Given the description of an element on the screen output the (x, y) to click on. 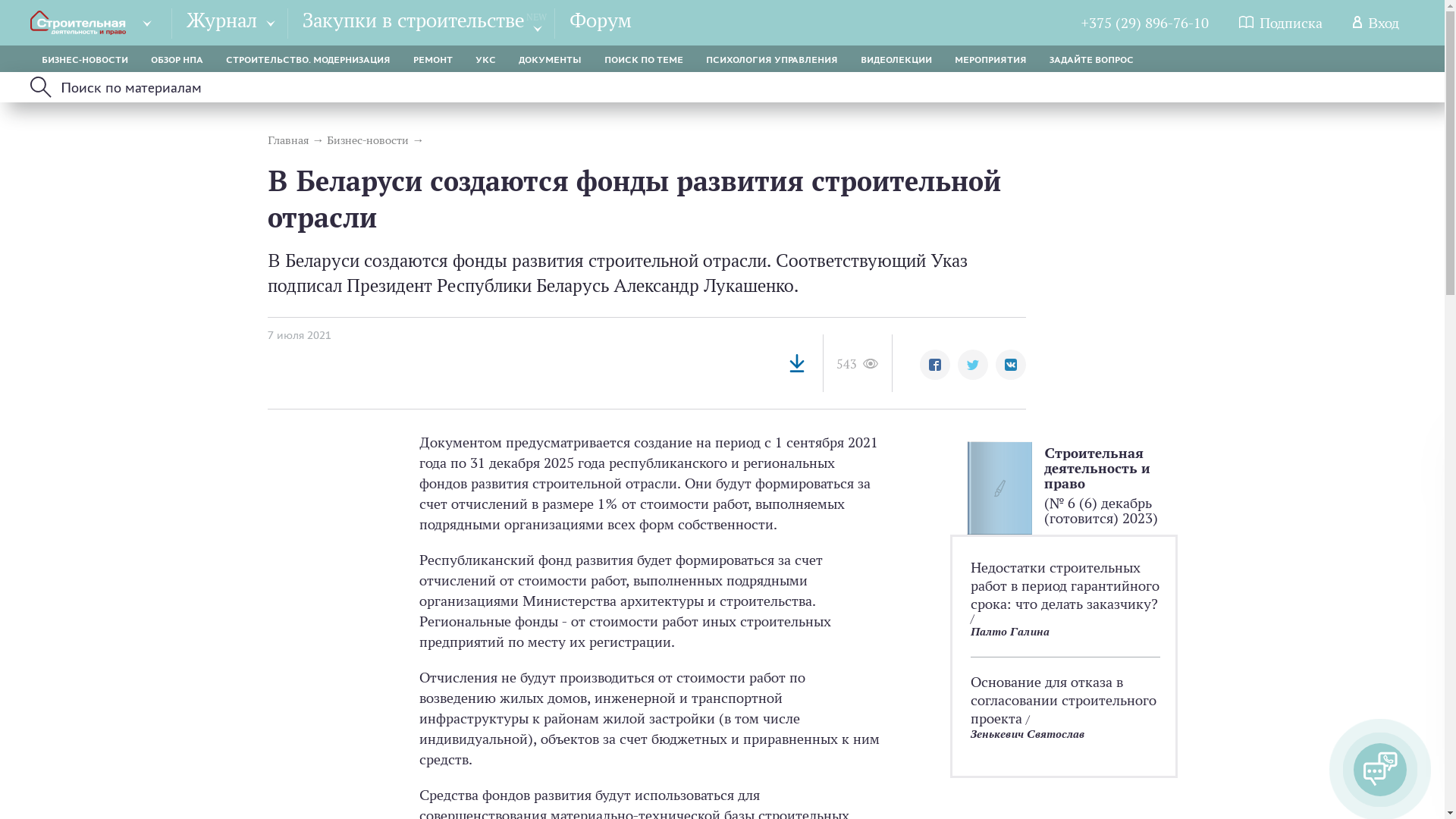
Share link on Vkontakte Element type: hover (1009, 364)
Share link on Twitter Element type: hover (972, 364)
Share link on Facebook Element type: hover (934, 364)
+375 (29) 896-76-10 Element type: text (1144, 22)
